Given the description of an element on the screen output the (x, y) to click on. 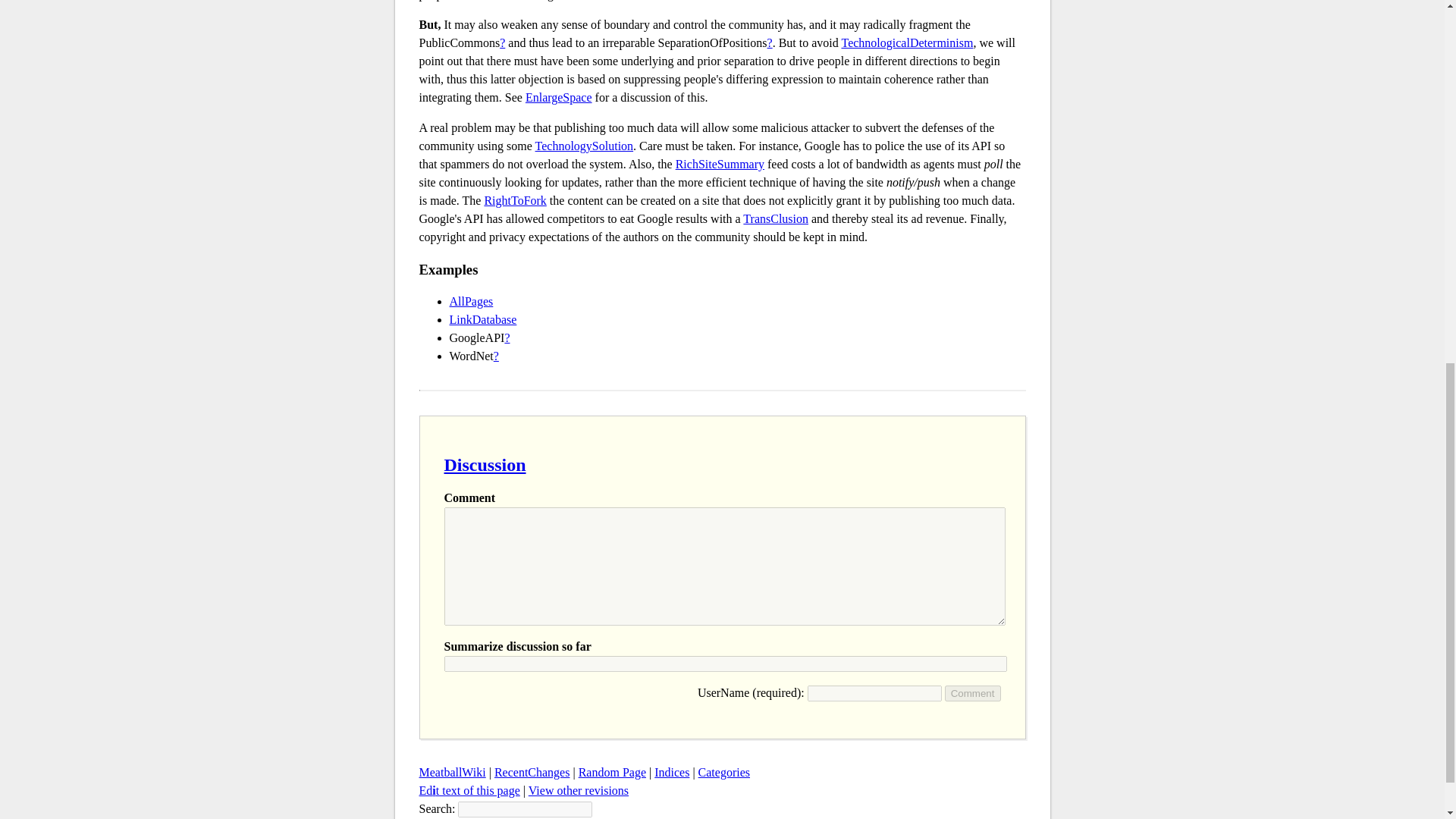
EnlargeSpace (558, 97)
Comment (972, 693)
TechnologySolution (584, 145)
TechnologicalDeterminism (906, 42)
